Given the description of an element on the screen output the (x, y) to click on. 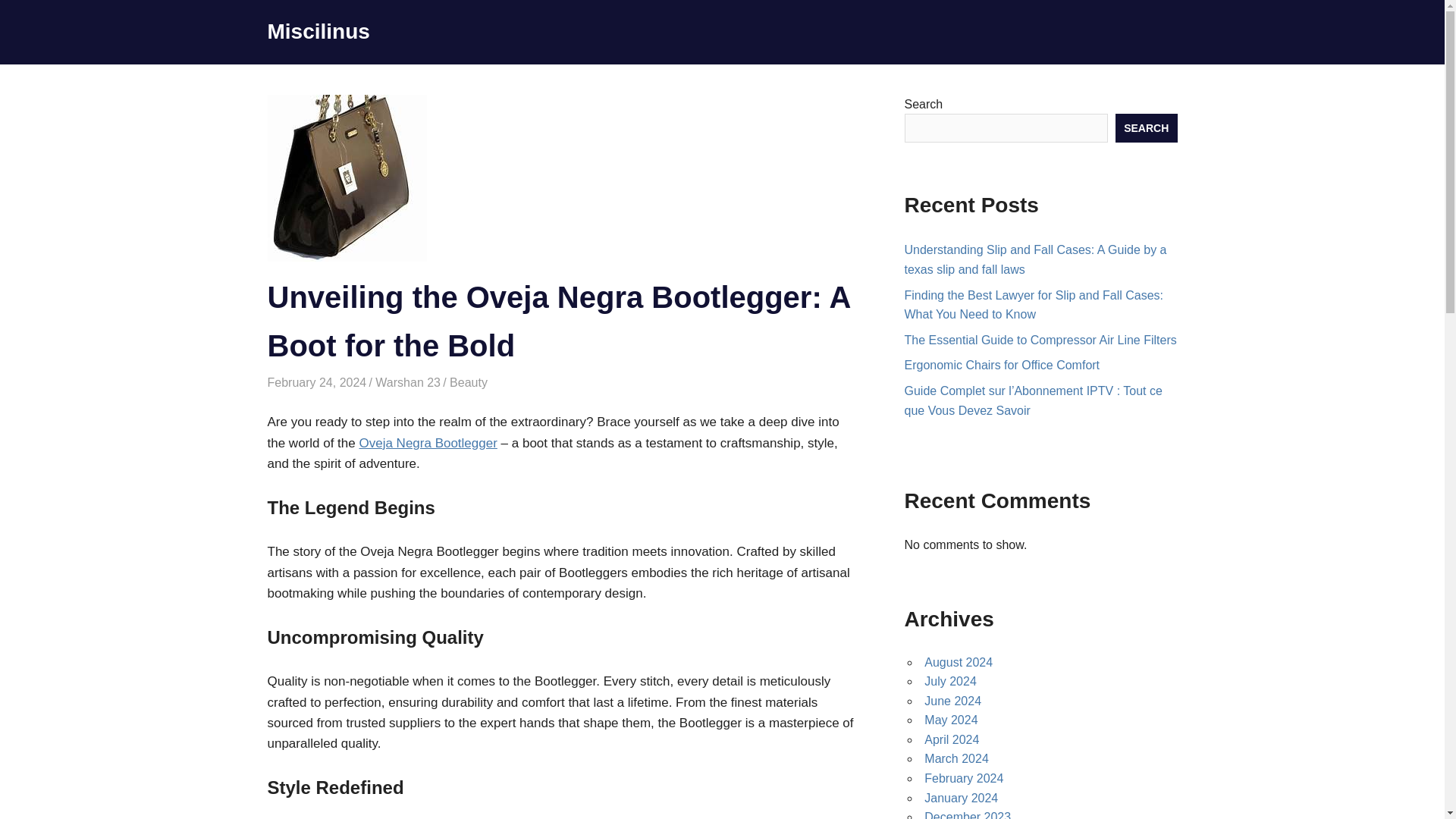
Beauty (468, 382)
July 2024 (950, 680)
February 24, 2024 (316, 382)
May 2024 (950, 719)
Warshan 23 (408, 382)
Ergonomic Chairs for Office Comfort (1001, 364)
Oveja Negra Bootlegger (427, 442)
June 2024 (952, 700)
December 2023 (967, 814)
